Given the description of an element on the screen output the (x, y) to click on. 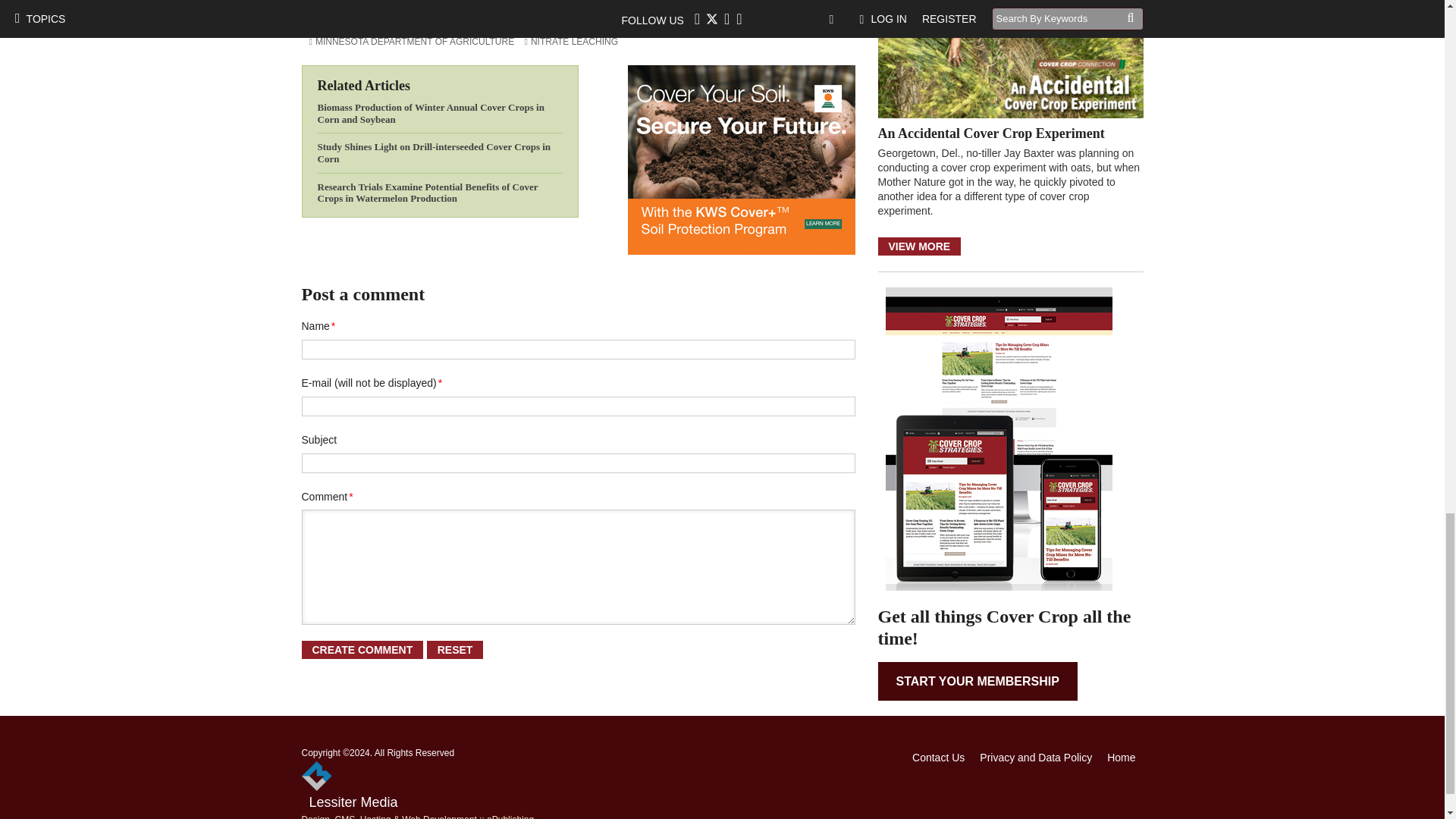
KWS Cereals (741, 159)
Reset (454, 649)
Create Comment (362, 649)
